Given the description of an element on the screen output the (x, y) to click on. 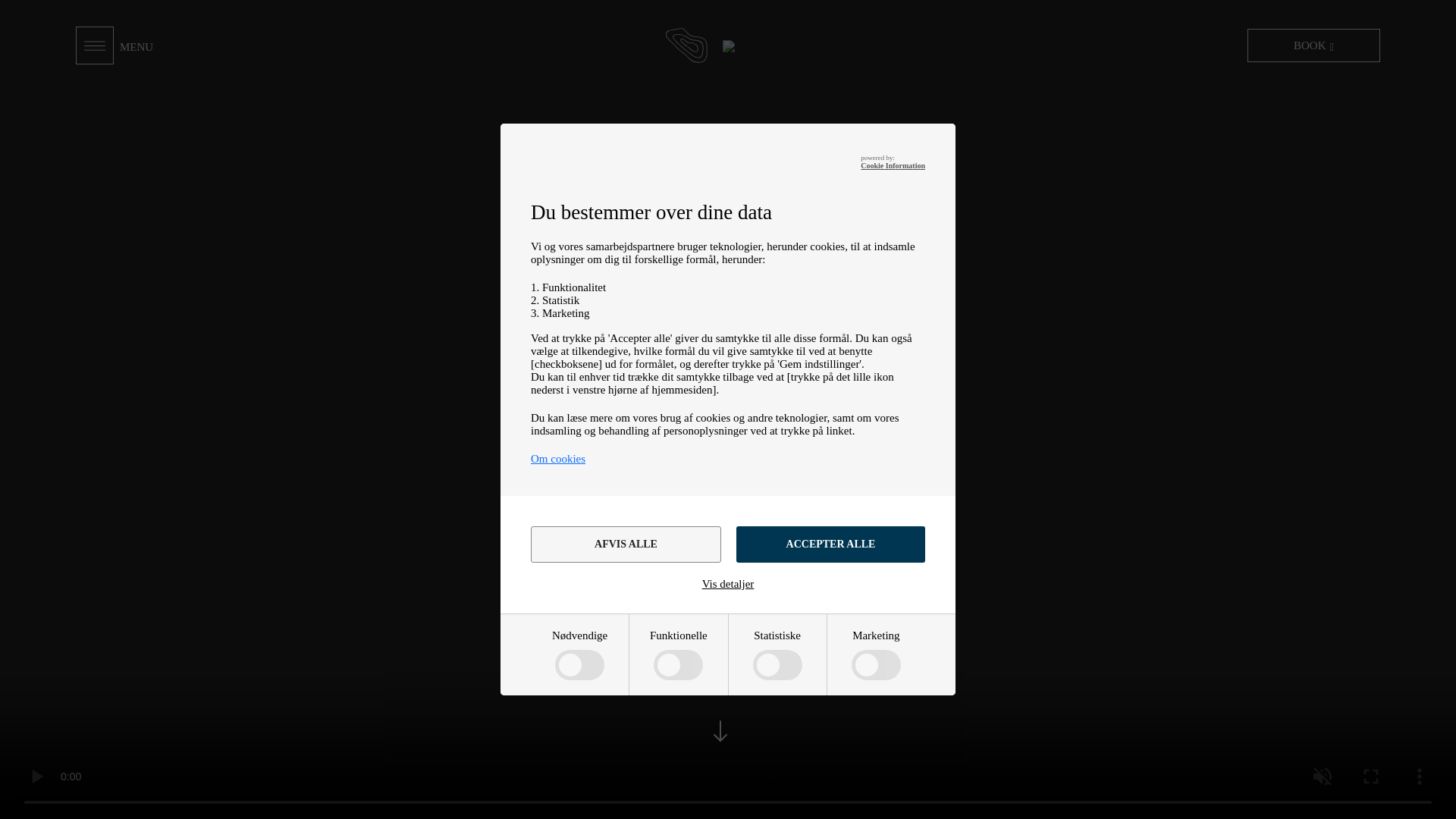
ACCEPTER ALLE (830, 544)
Om cookies (558, 458)
Vis detaljer (727, 584)
Cookie Information (892, 165)
AFVIS ALLE (625, 544)
